Given the description of an element on the screen output the (x, y) to click on. 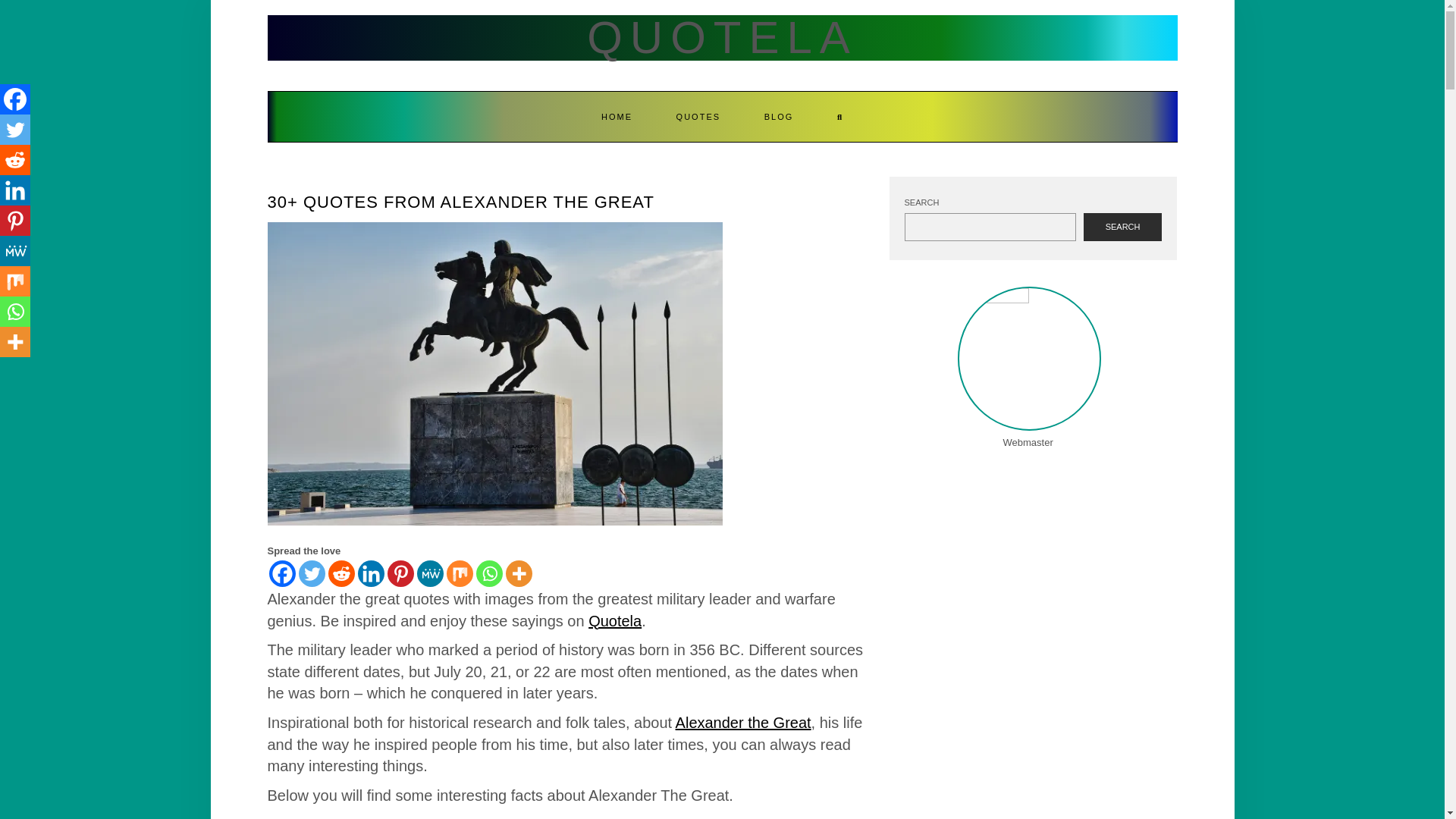
QUOTELA (721, 37)
MeWe (430, 573)
BLOG (778, 116)
Reddit (15, 159)
Quotela (615, 620)
Pinterest (400, 573)
SEARCH (1122, 226)
Pinterest (15, 220)
Mix (15, 281)
Reddit (340, 573)
Facebook (15, 99)
Facebook (281, 573)
QUOTES (698, 116)
MeWe (15, 250)
Linkedin (15, 190)
